Given the description of an element on the screen output the (x, y) to click on. 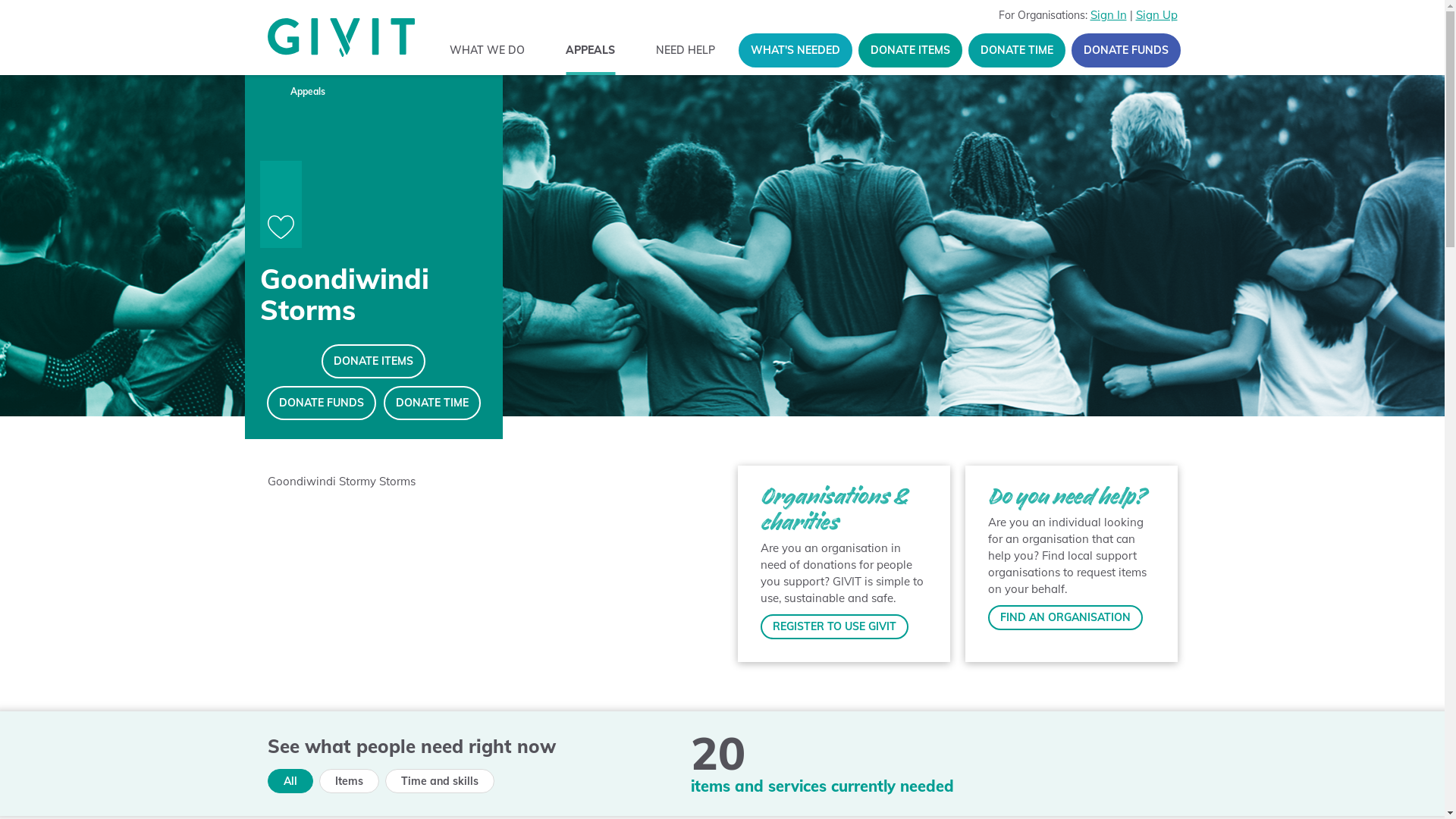
REGISTER TO USE GIVIT Element type: text (833, 626)
Givit homepage Element type: text (340, 37)
FIND AN ORGANISATION Element type: text (1064, 617)
Sign Up Element type: text (1156, 14)
Organisations & charities Element type: text (832, 508)
DONATE ITEMS Element type: text (373, 361)
DONATE ITEMS Element type: text (910, 50)
NEED HELP Element type: text (685, 50)
APPEALS Element type: text (590, 50)
DONATE FUNDS Element type: text (1124, 50)
Do you need help? Element type: text (1066, 496)
DONATE FUNDS Element type: text (321, 402)
WHAT WE DO Element type: text (487, 50)
Appeals Element type: text (306, 91)
Sign In Element type: text (1108, 14)
DONATE TIME Element type: text (431, 402)
DONATE TIME Element type: text (1015, 50)
WHAT'S NEEDED Element type: text (795, 50)
